Given the description of an element on the screen output the (x, y) to click on. 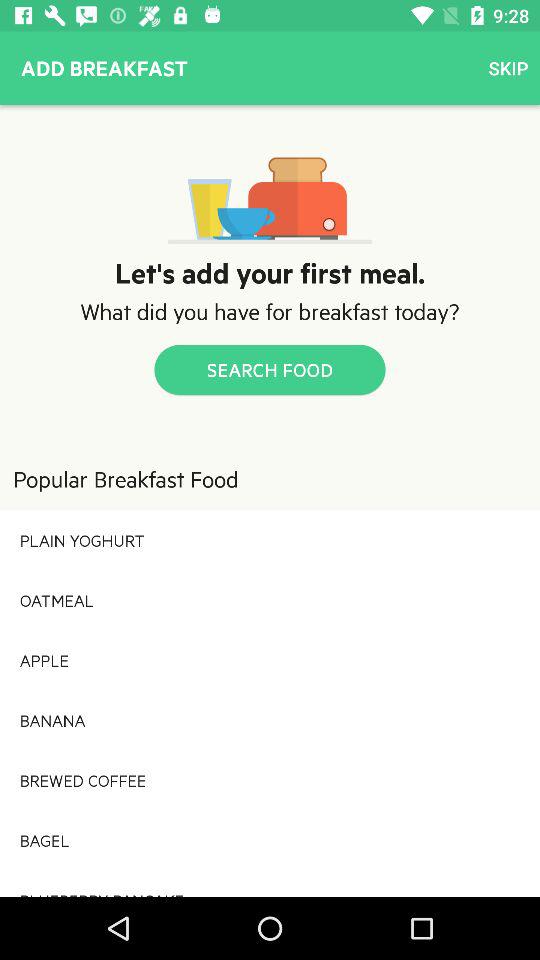
flip until apple item (270, 660)
